Given the description of an element on the screen output the (x, y) to click on. 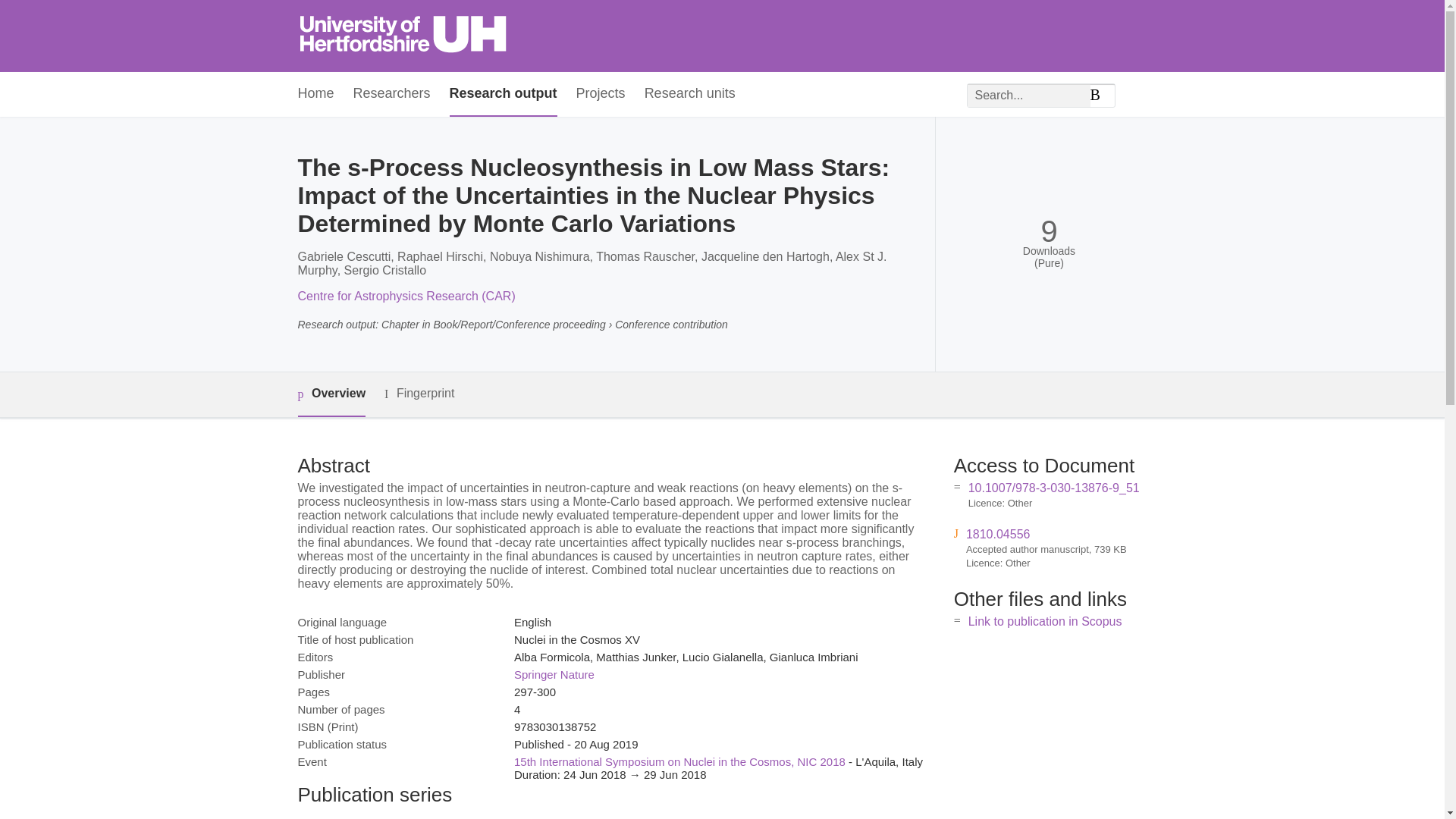
Overview (331, 394)
Researchers (391, 94)
Research output (503, 94)
Link to publication in Scopus (1045, 621)
Springer Nature (553, 674)
Research units (690, 94)
Projects (601, 94)
1810.04556 (998, 533)
Fingerprint (419, 393)
